Given the description of an element on the screen output the (x, y) to click on. 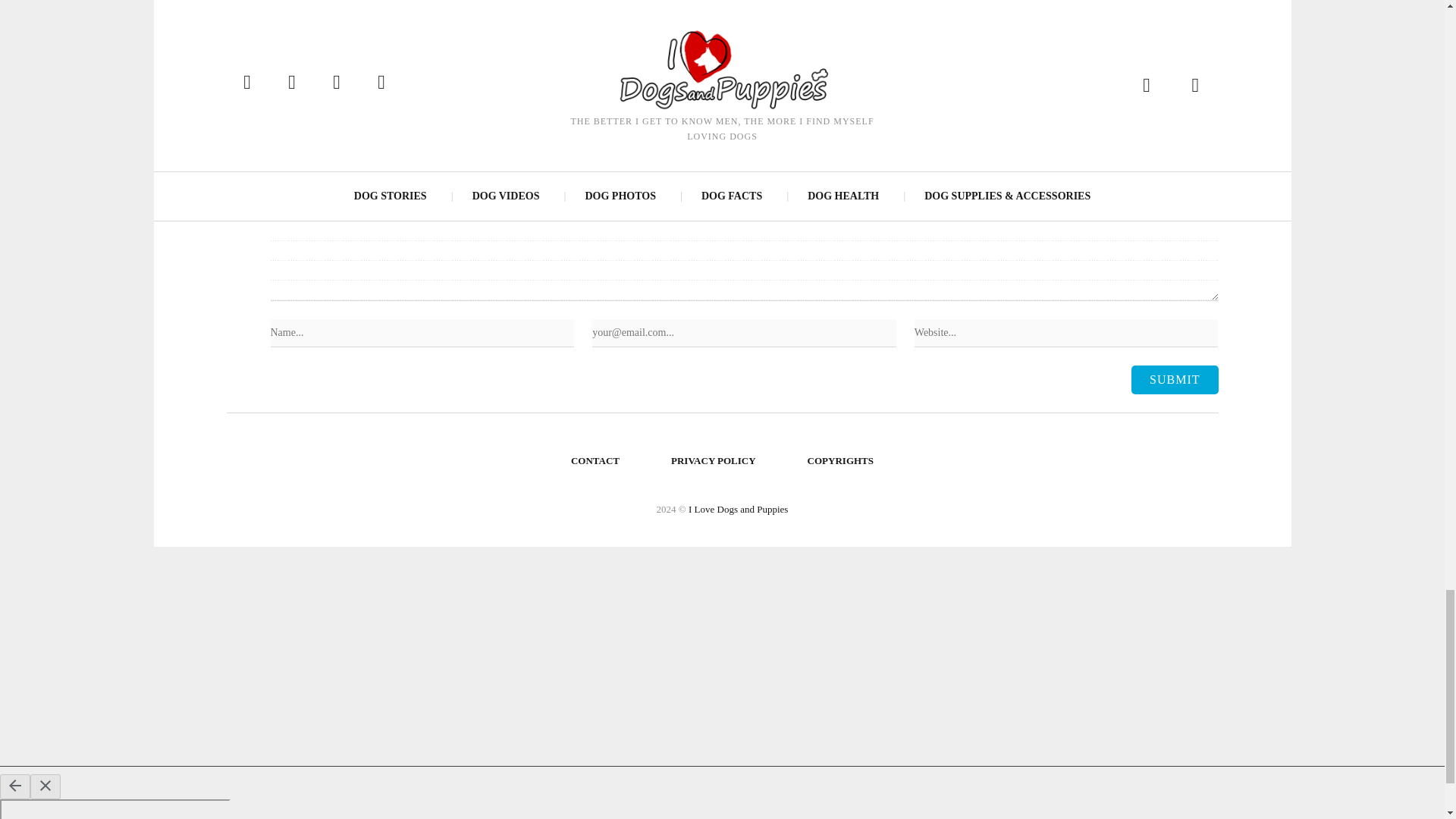
View all posts tagged Confused Dog (314, 17)
View all posts tagged Dog News (419, 17)
View all posts tagged Dog (373, 17)
View all posts tagged dogs and cats (597, 17)
CONTACT (595, 460)
DOG NEWS (419, 17)
DOG (373, 17)
VIDEO (853, 17)
CONFUSED DOG (314, 17)
Submit (1174, 379)
